Given the description of an element on the screen output the (x, y) to click on. 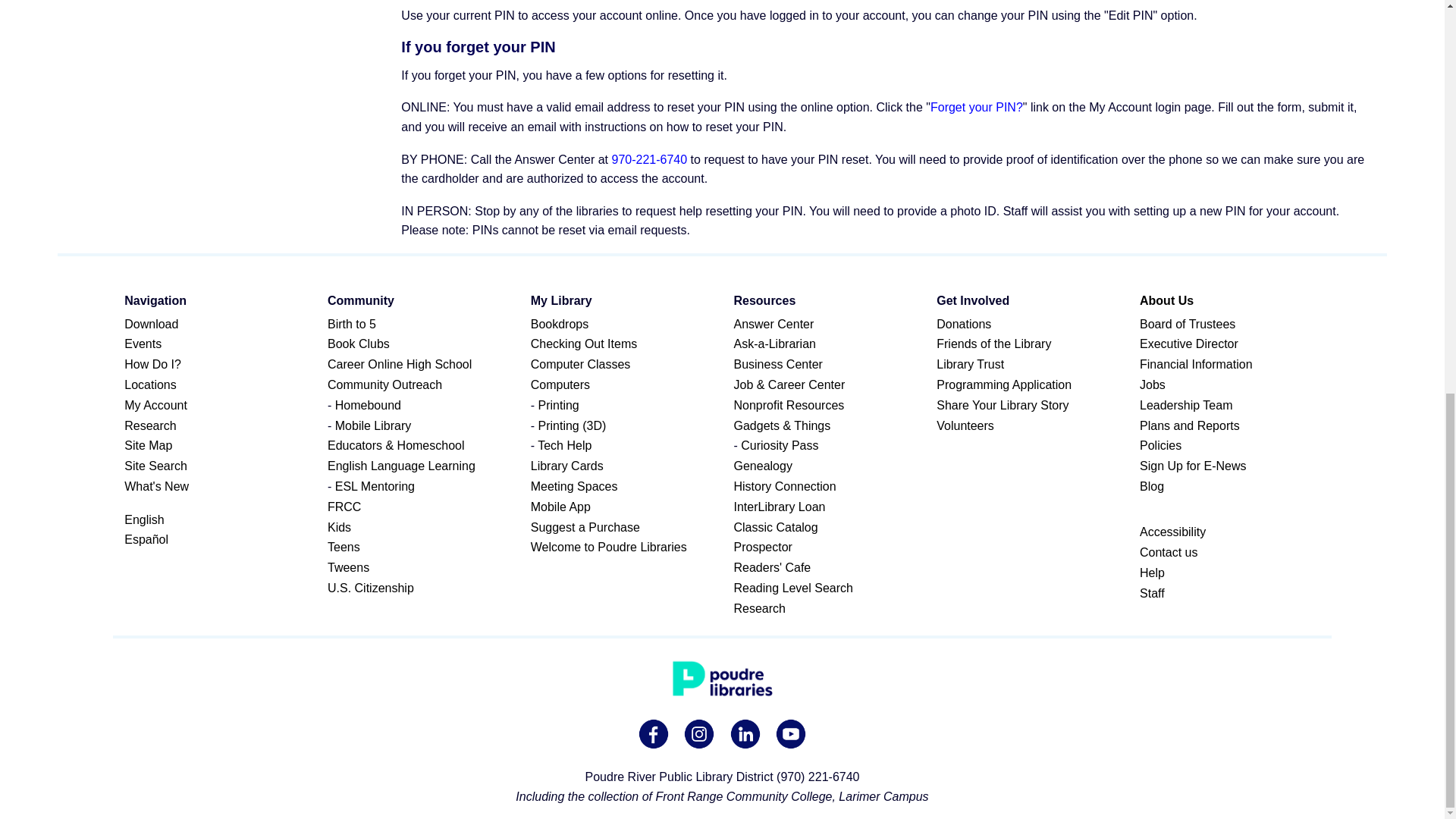
970-221-6740 (649, 159)
Poudre River Public Library District home page (721, 679)
Forget your PIN? (976, 106)
